Given the description of an element on the screen output the (x, y) to click on. 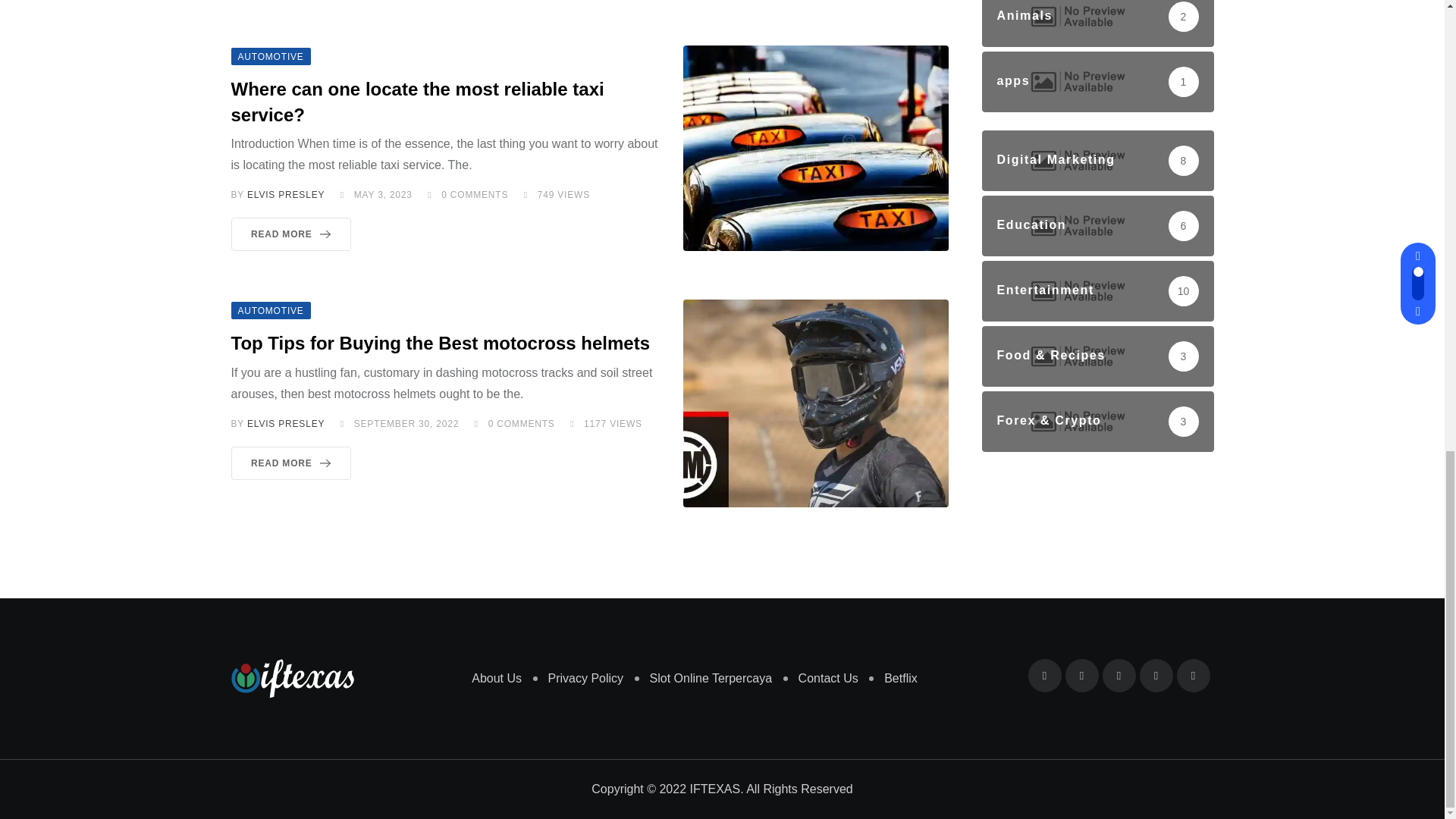
Posts by Elvis Presley (285, 194)
Posts by Elvis Presley (285, 423)
